Given the description of an element on the screen output the (x, y) to click on. 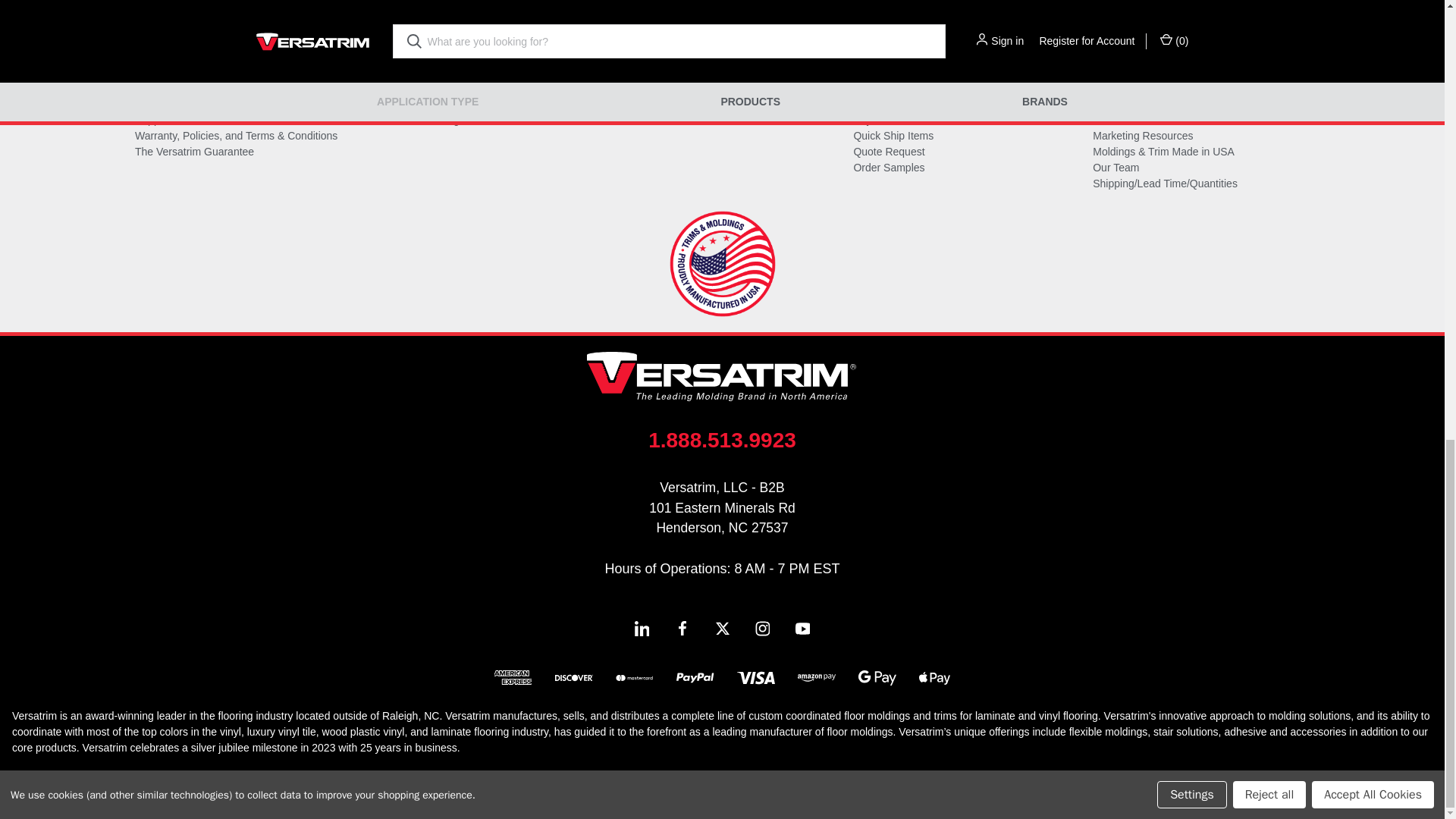
VERSATRIM - The Leading Molding Brand in North America (721, 376)
